Given the description of an element on the screen output the (x, y) to click on. 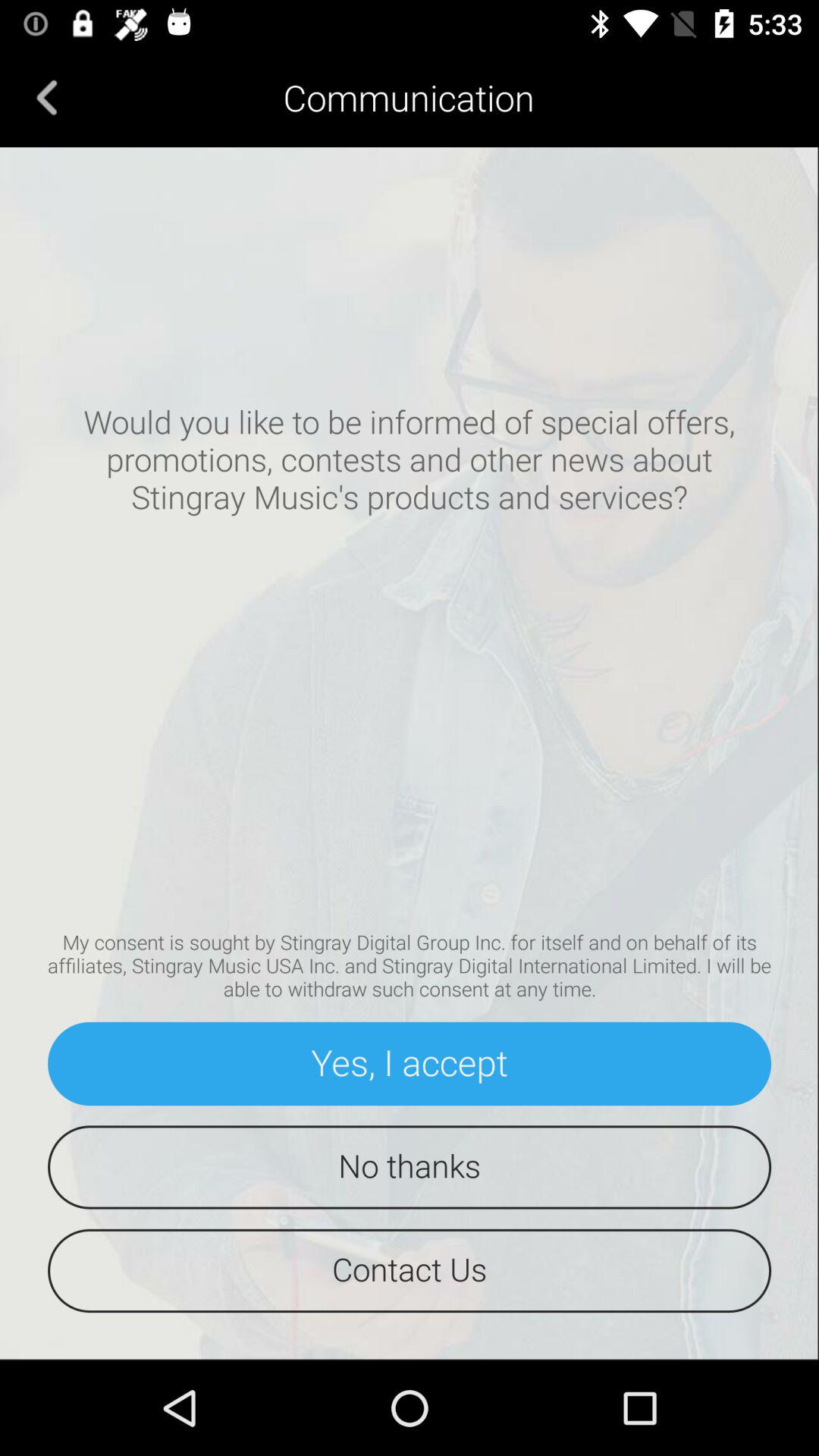
choose icon above the no thanks icon (409, 1063)
